Given the description of an element on the screen output the (x, y) to click on. 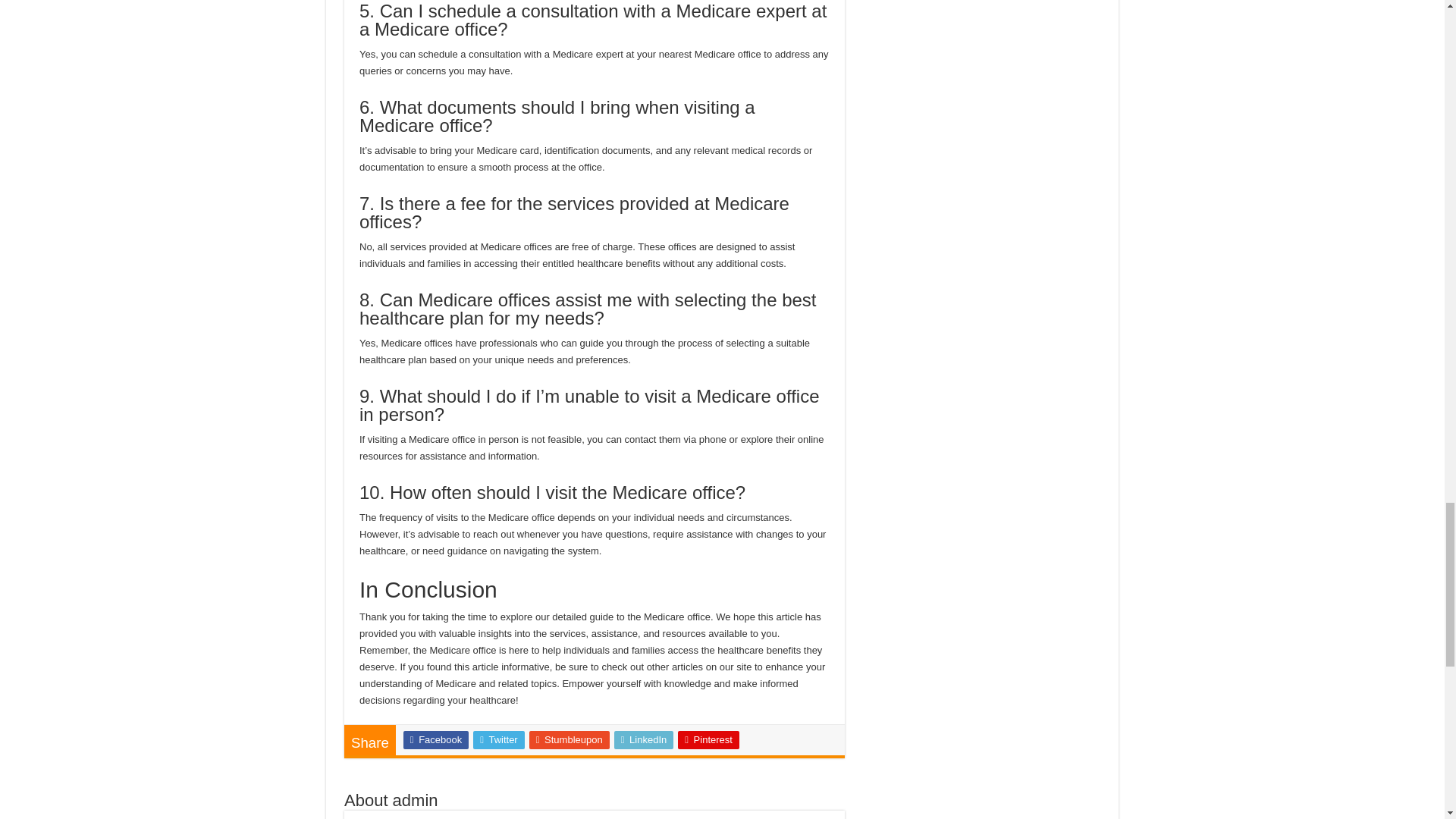
Stumbleupon (569, 740)
LinkedIn (644, 740)
Pinterest (708, 740)
Twitter (498, 740)
Facebook (435, 740)
